Given the description of an element on the screen output the (x, y) to click on. 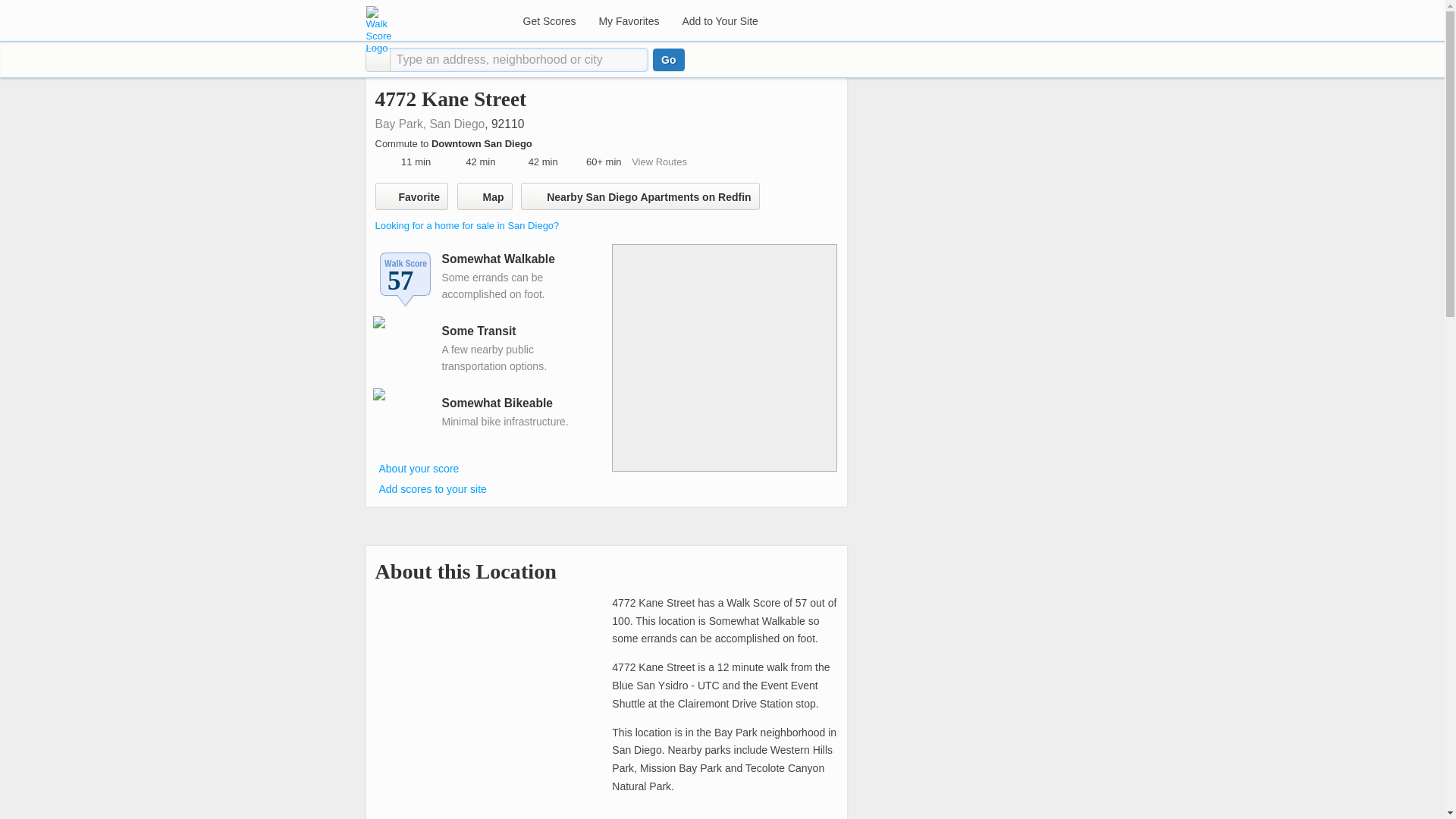
Nearby San Diego Apartments on Redfin (639, 195)
Add to Your Site (719, 21)
San Diego (456, 123)
About your score (419, 468)
Go (668, 59)
Favorite (410, 195)
Map (484, 195)
View Routes (659, 161)
Get Scores (548, 21)
My Favorites (628, 21)
Downtown San Diego (482, 143)
Bay Park, (400, 123)
Add scores to your site (432, 489)
Looking for a home for sale in San Diego? (466, 225)
